Given the description of an element on the screen output the (x, y) to click on. 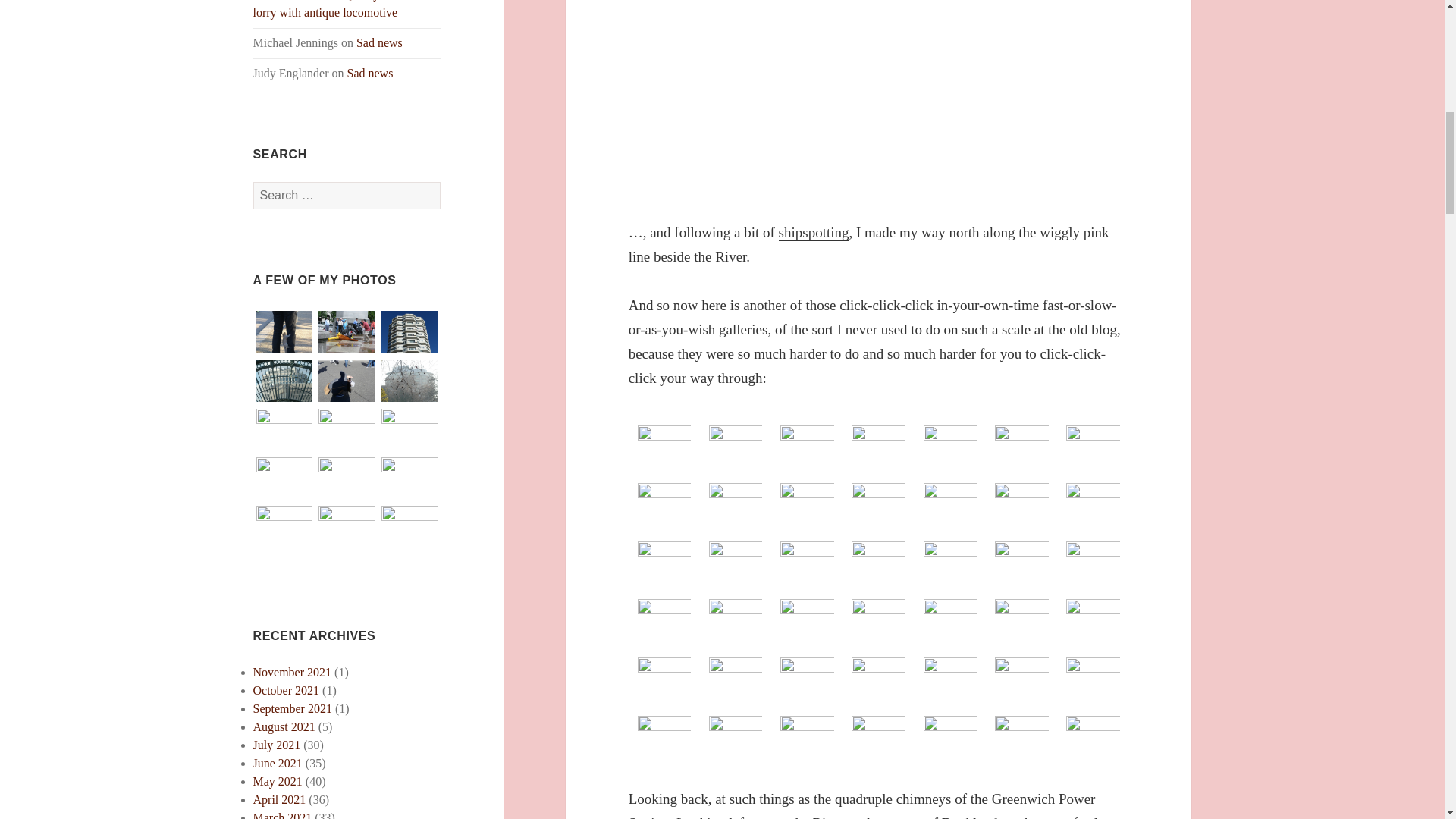
Sad news (370, 72)
Dutch Quality Flowers lorry with antique locomotive (337, 9)
Sad news (379, 42)
